Given the description of an element on the screen output the (x, y) to click on. 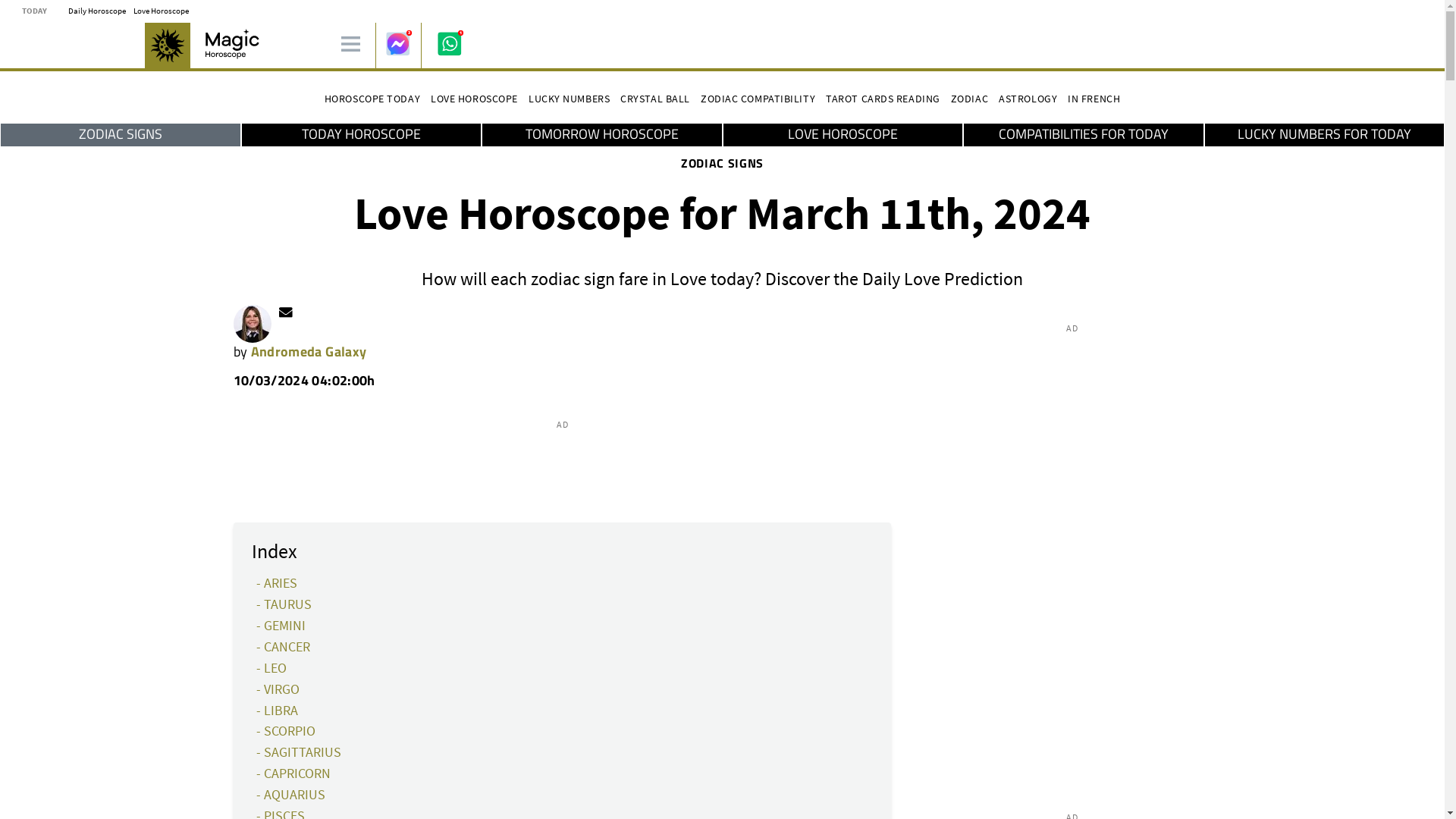
TODAY HOROSCOPE (360, 133)
The Daily Horoscope for March 22nd, 2024 (96, 9)
- CANCER (283, 646)
LOVE HOROSCOPE (474, 98)
Horoscope Today (372, 98)
Love Horoscope (161, 9)
ZODIAC COMPATIBILITY (757, 98)
ASTROLOGY (1027, 98)
Crystal ball (655, 98)
LUCKY NUMBERS (569, 98)
LUCKY NUMBERS FOR TODAY (1324, 133)
Whatsapp (448, 43)
- GEMINI (280, 624)
HOROSCOPE TODAY (372, 98)
CRYSTAL BALL (655, 98)
